Given the description of an element on the screen output the (x, y) to click on. 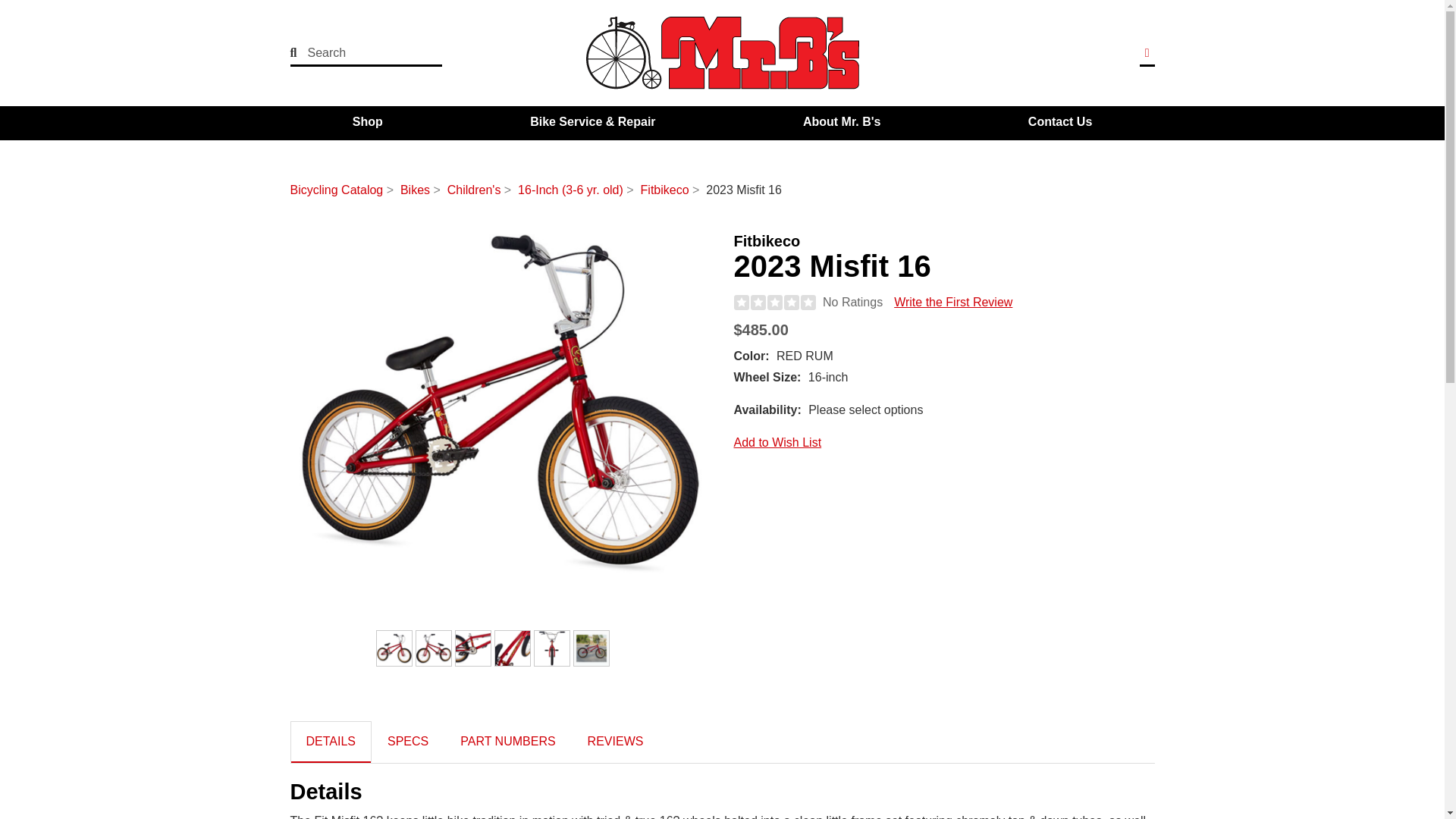
Color: RED RUM (394, 647)
Mr. B's Bicycles Home Page (721, 52)
Shop (367, 122)
Search (356, 52)
